Given the description of an element on the screen output the (x, y) to click on. 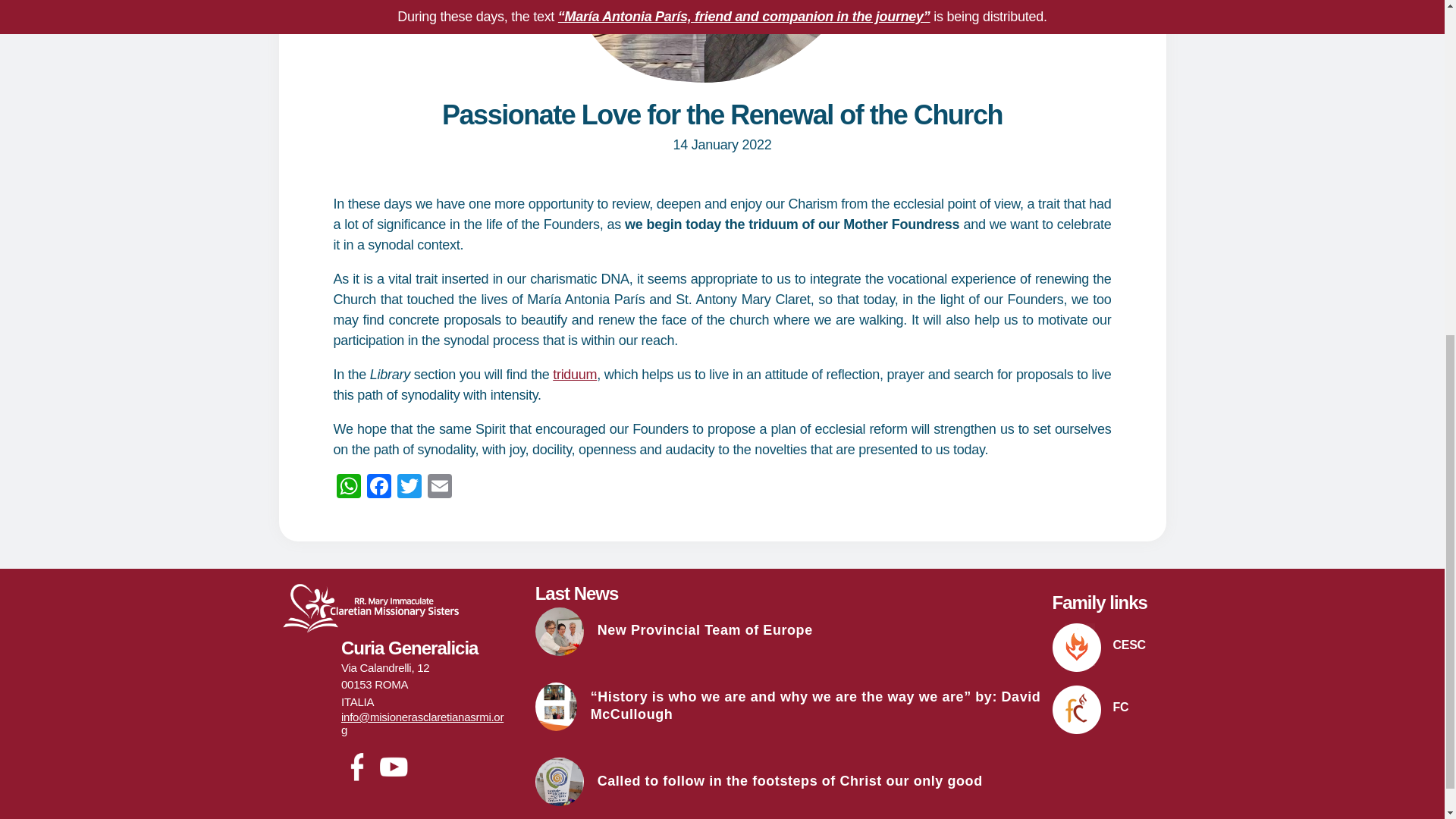
Email (439, 488)
FC (1109, 709)
Twitter (409, 488)
WhatsApp (348, 488)
WhatsApp (348, 488)
Twitter (409, 488)
New Provincial Team of Europe (793, 631)
Facebook (379, 488)
CESC (1109, 647)
Called to follow in the footsteps of Christ our only good (793, 781)
triduum (574, 374)
Facebook (379, 488)
Email (439, 488)
